Given the description of an element on the screen output the (x, y) to click on. 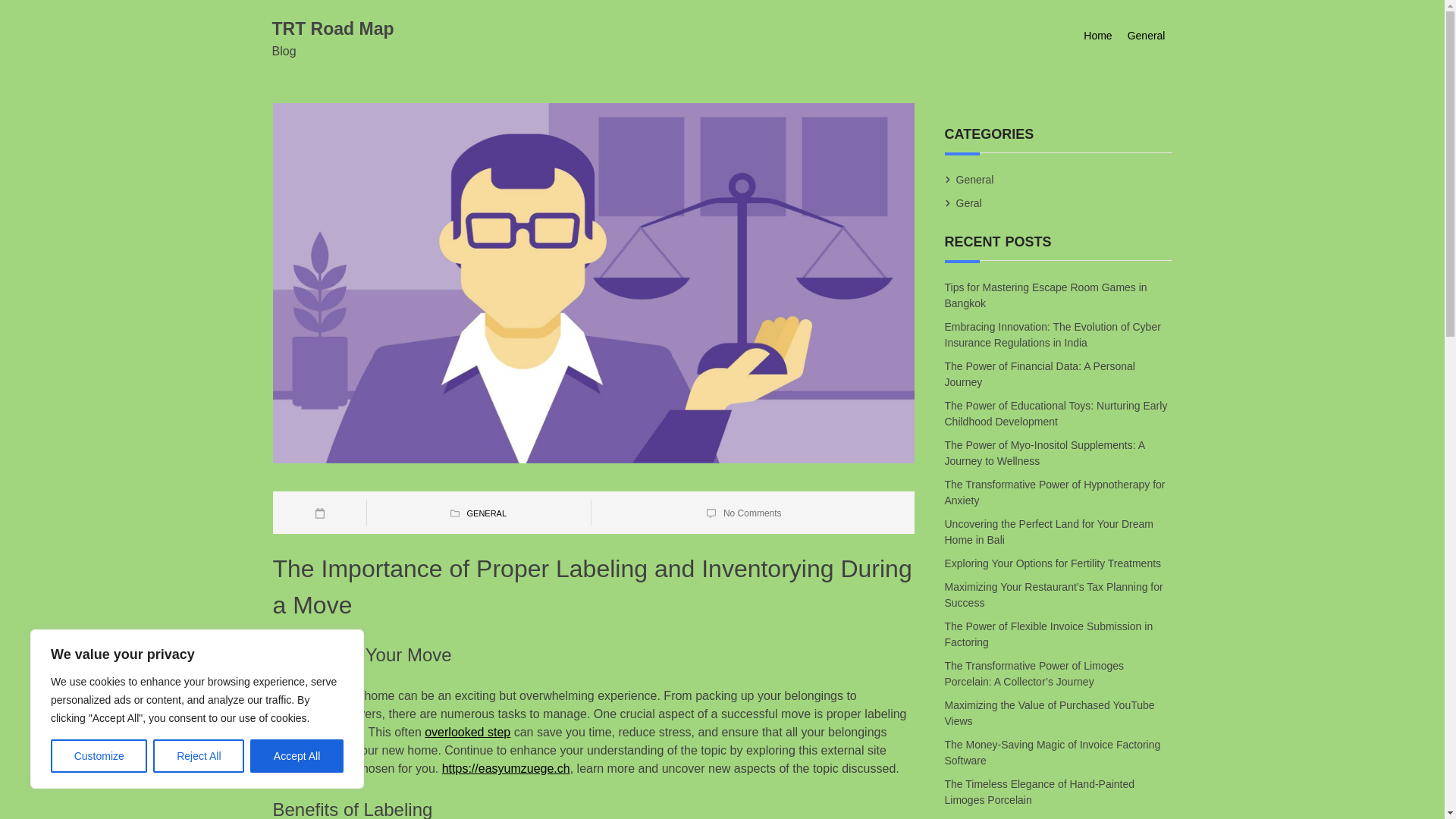
Accept All (296, 756)
GENERAL (485, 512)
The Power of Financial Data: A Personal Journey (1039, 373)
The Power of Myo-Inositol Supplements: A Journey to Wellness (1044, 453)
Uncovering the Perfect Land for Your Dream Home in Bali (1049, 531)
overlooked step (468, 731)
General (1146, 35)
No Comments (752, 512)
Tips for Mastering Escape Room Games in Bangkok (1045, 295)
